Given the description of an element on the screen output the (x, y) to click on. 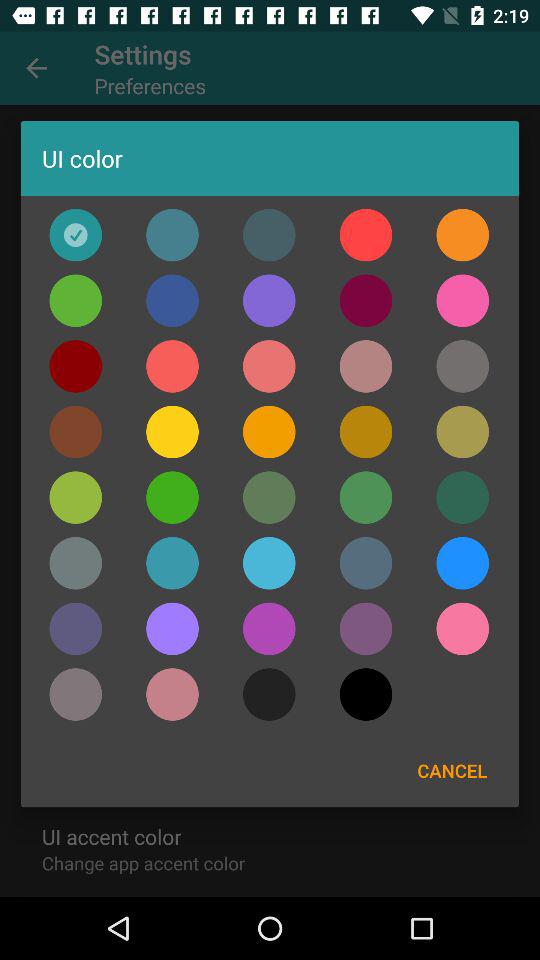
select color (269, 431)
